Given the description of an element on the screen output the (x, y) to click on. 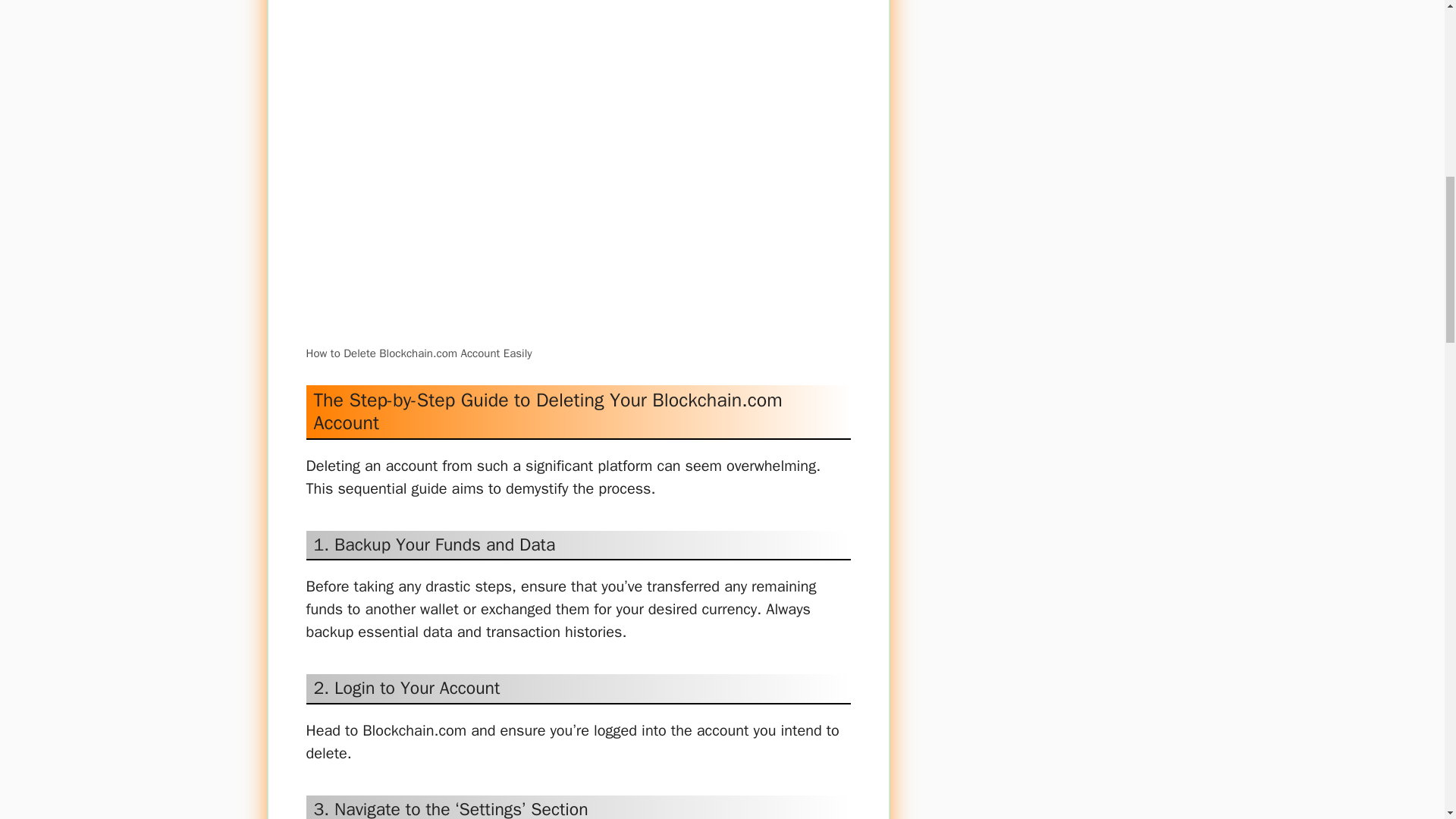
Scroll back to top (1406, 720)
